Given the description of an element on the screen output the (x, y) to click on. 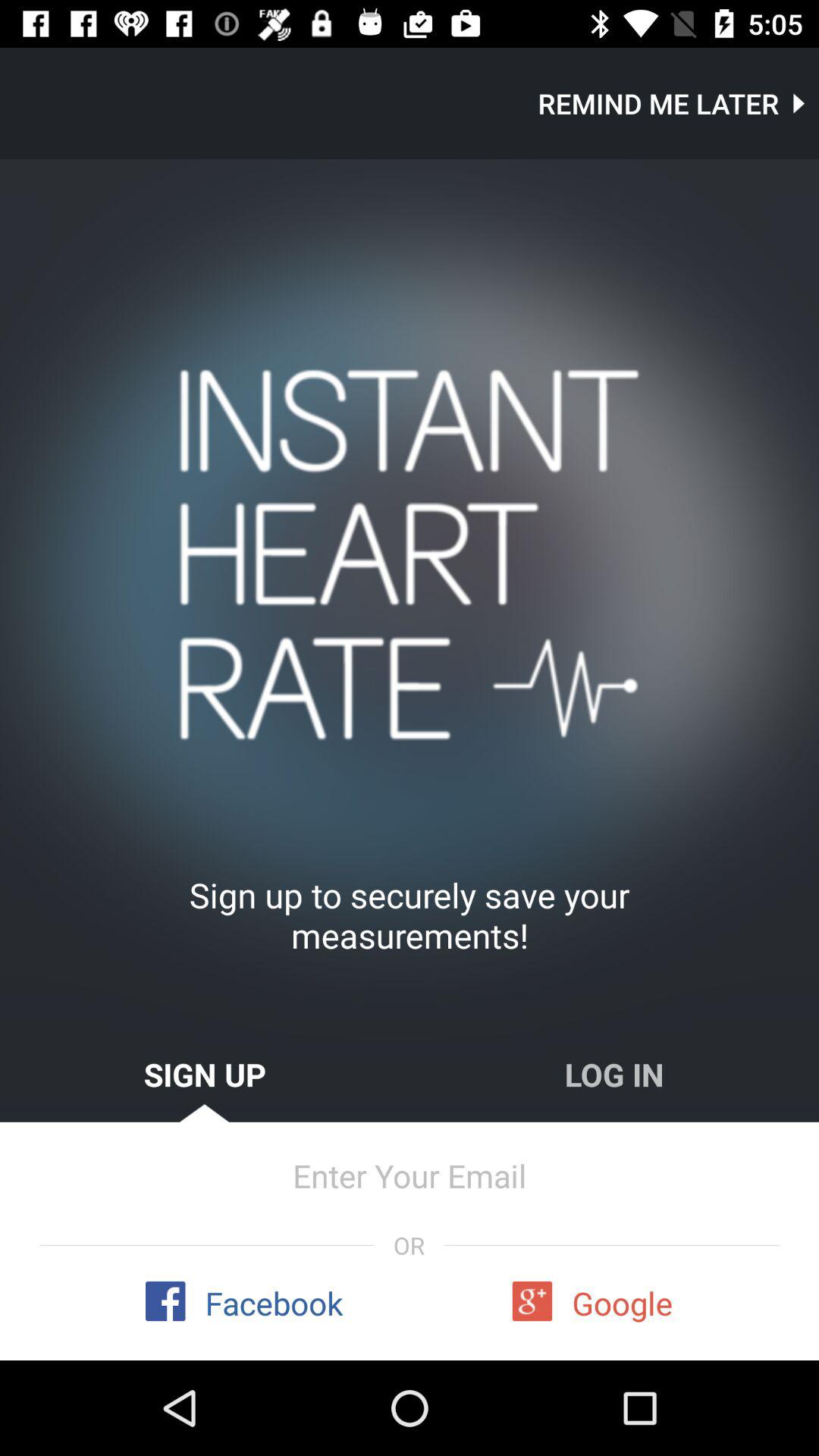
turn off the item below the sign up to item (614, 1074)
